Given the description of an element on the screen output the (x, y) to click on. 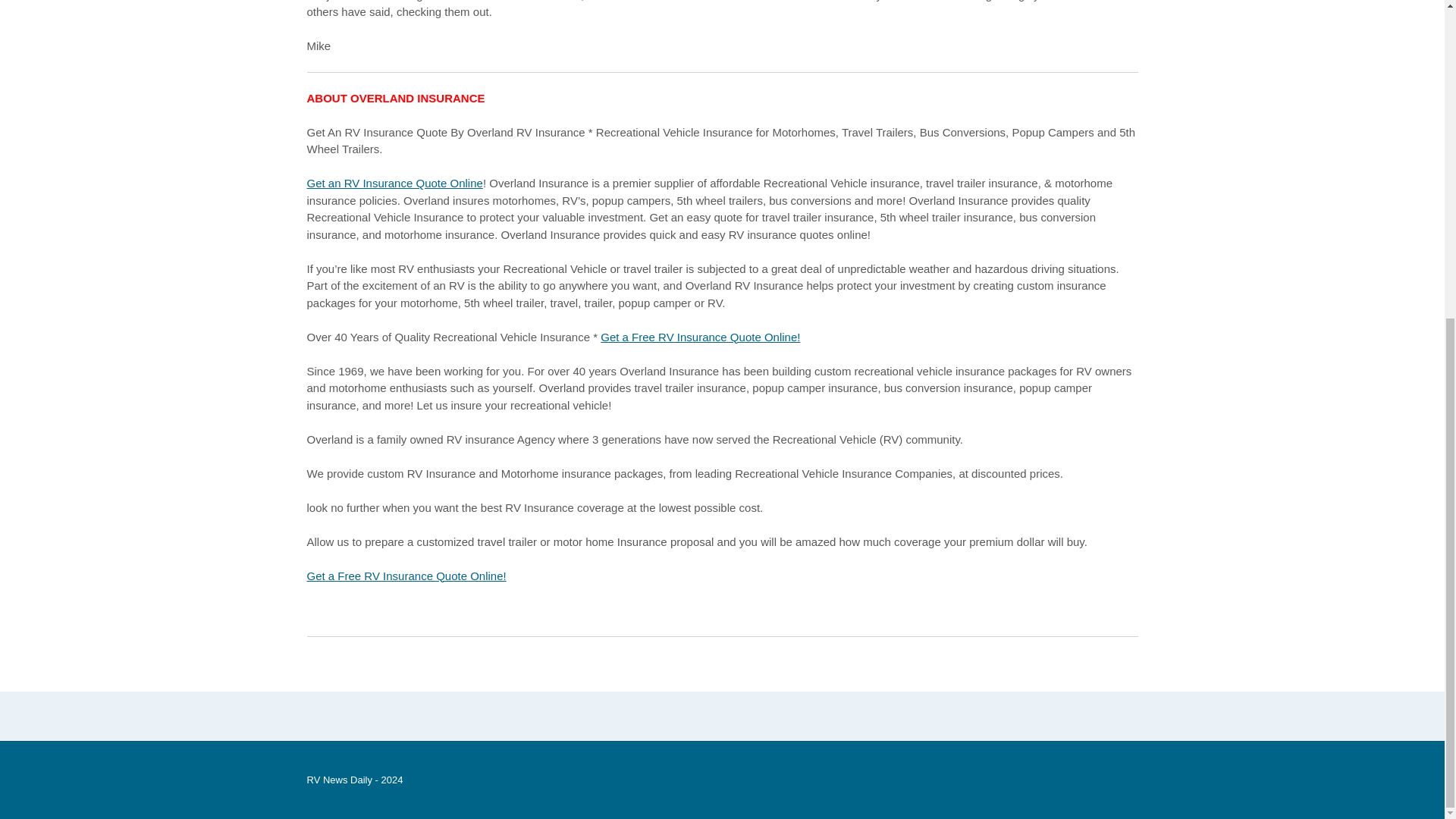
Get an RV Insurance Quote Online (393, 182)
Get a Free RV Insurance Quote Online! (405, 575)
Get a Free RV Insurance Quote Online! (699, 336)
